Given the description of an element on the screen output the (x, y) to click on. 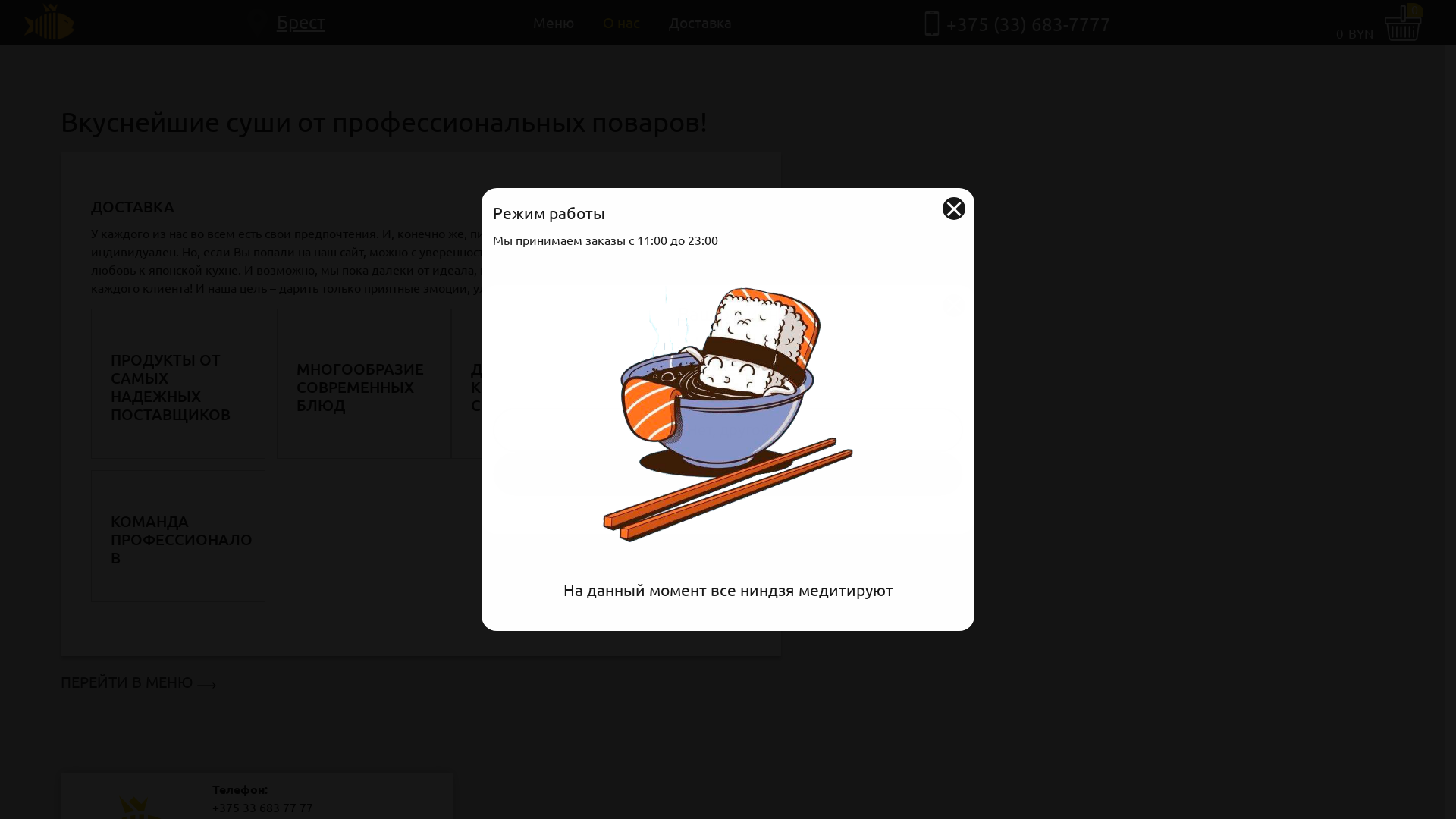
+375 (33) 683-7777 Element type: text (1028, 24)
